Given the description of an element on the screen output the (x, y) to click on. 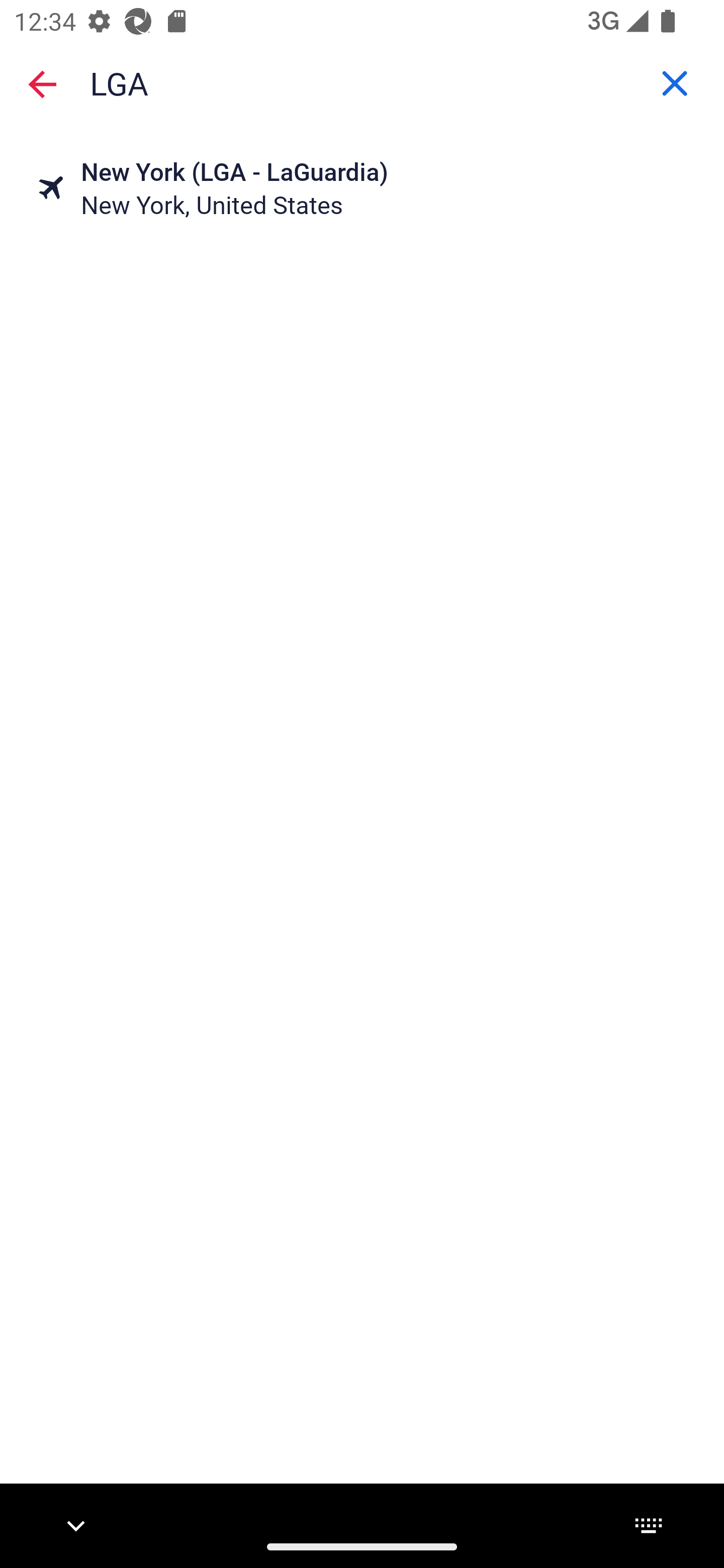
Close search screen (42, 84)
Clear Drop-off (674, 82)
Drop-off, LGA (361, 82)
